Given the description of an element on the screen output the (x, y) to click on. 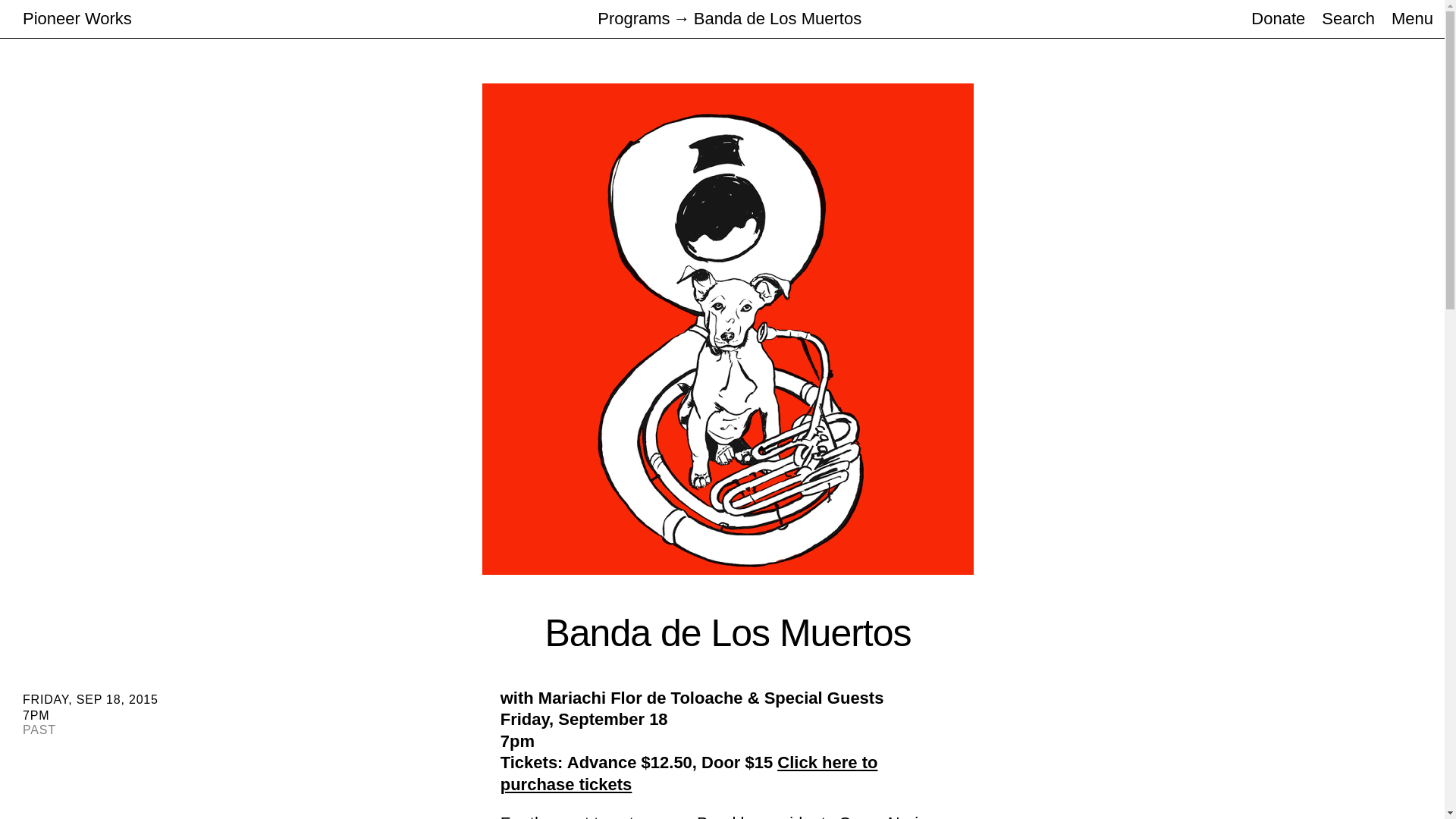
Menu (1411, 19)
Search (1348, 19)
Click here to purchase tickets (688, 772)
Donate (1277, 19)
